Given the description of an element on the screen output the (x, y) to click on. 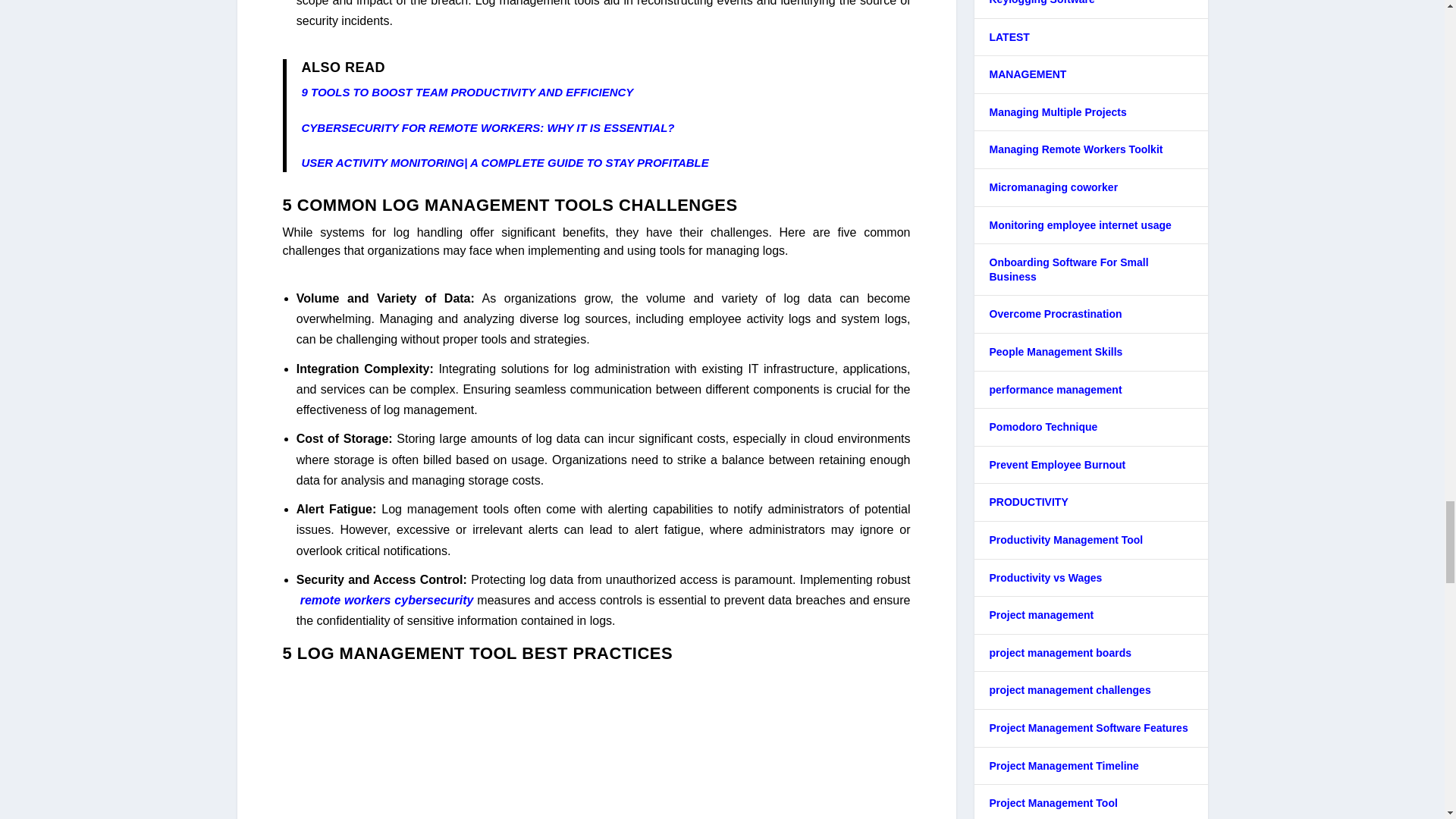
Best Practices (596, 745)
 remote workers cybersecurity (385, 599)
9 TOOLS TO BOOST TEAM PRODUCTIVITY AND EFFICIENCY (467, 91)
CYBERSECURITY FOR REMOTE WORKERS: WHY IT IS ESSENTIAL? (488, 127)
